Given the description of an element on the screen output the (x, y) to click on. 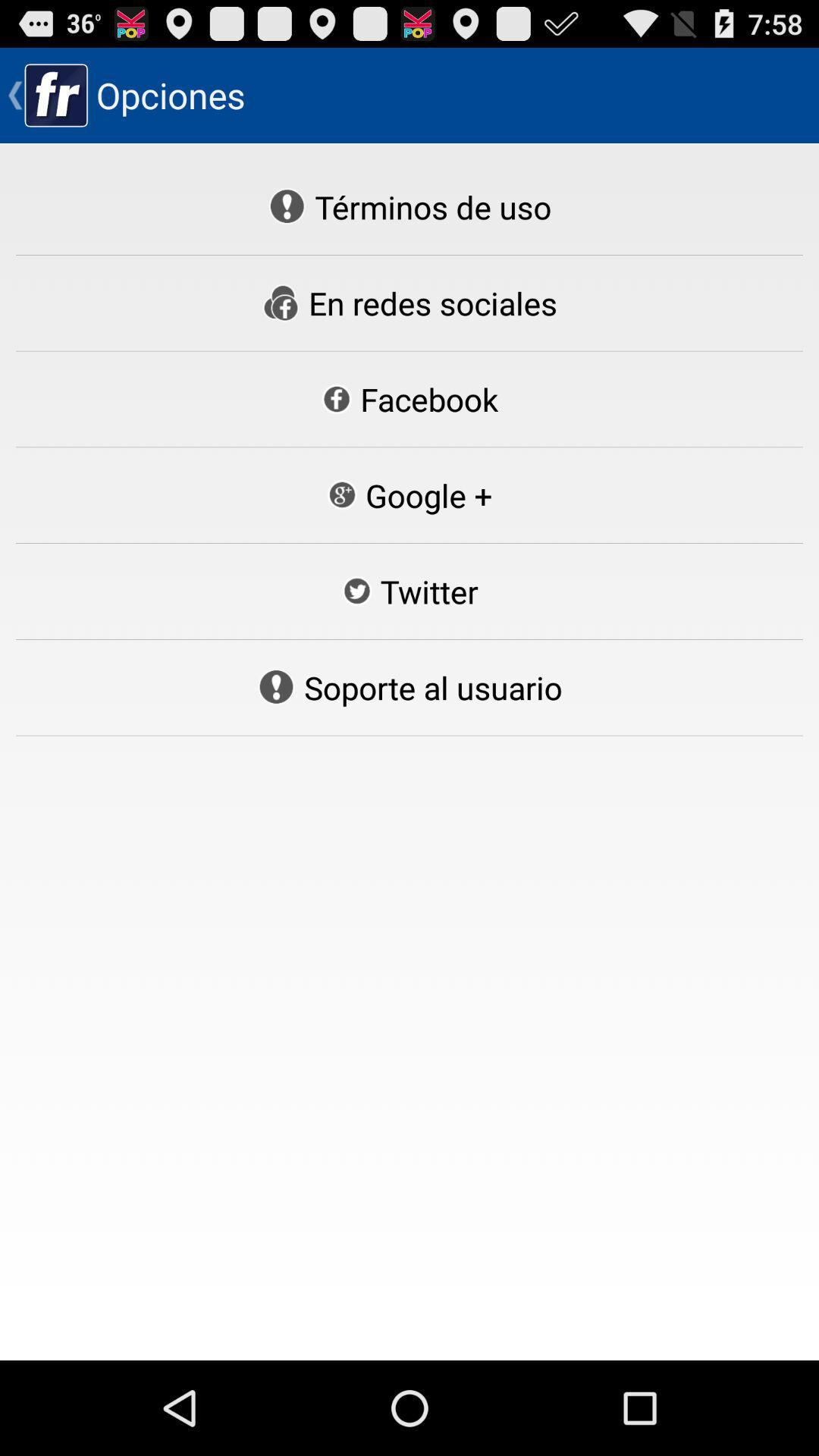
choose the button below the facebook icon (408, 495)
